Given the description of an element on the screen output the (x, y) to click on. 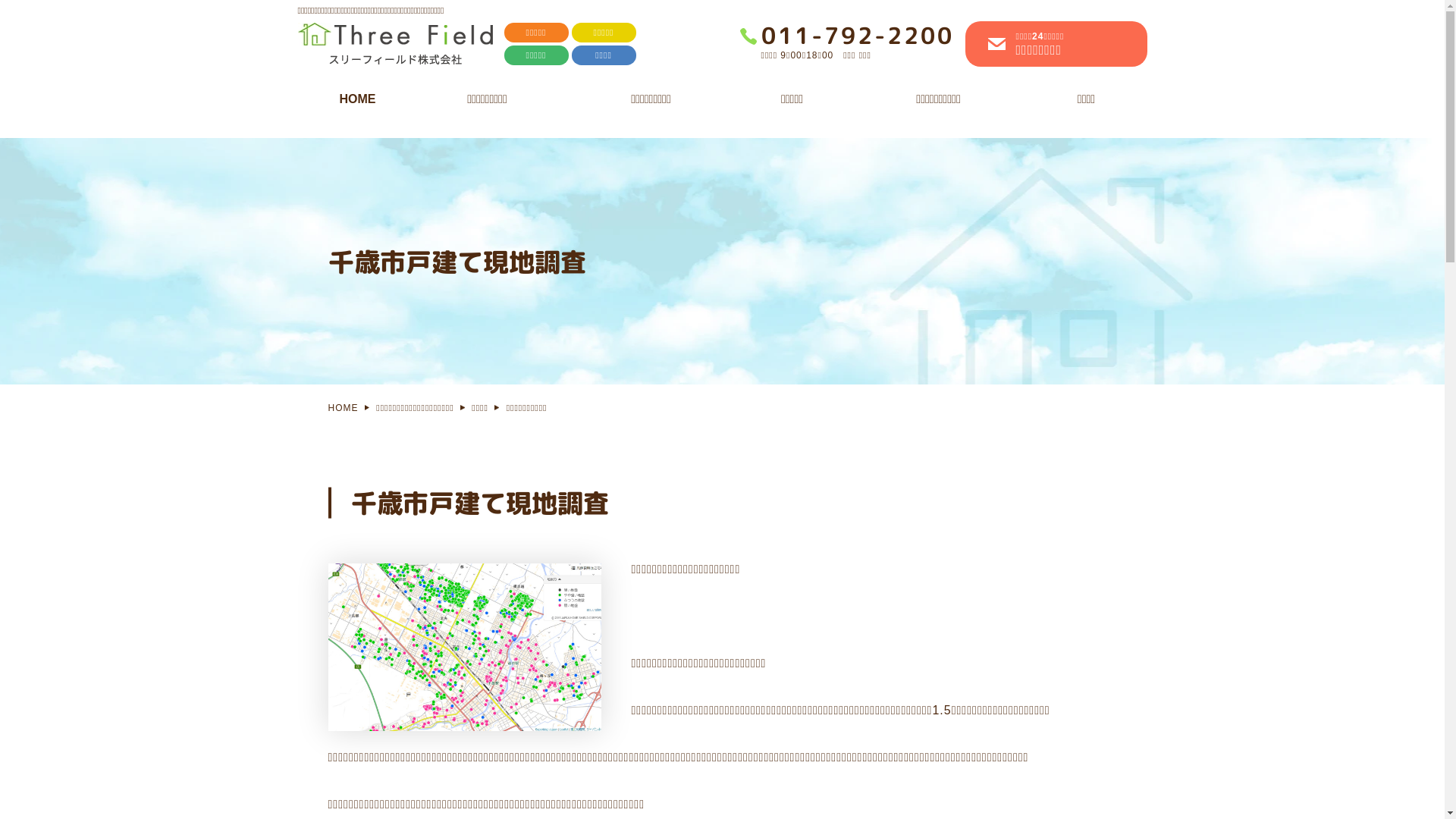
HOME Element type: text (342, 407)
HOME Element type: text (356, 102)
